Given the description of an element on the screen output the (x, y) to click on. 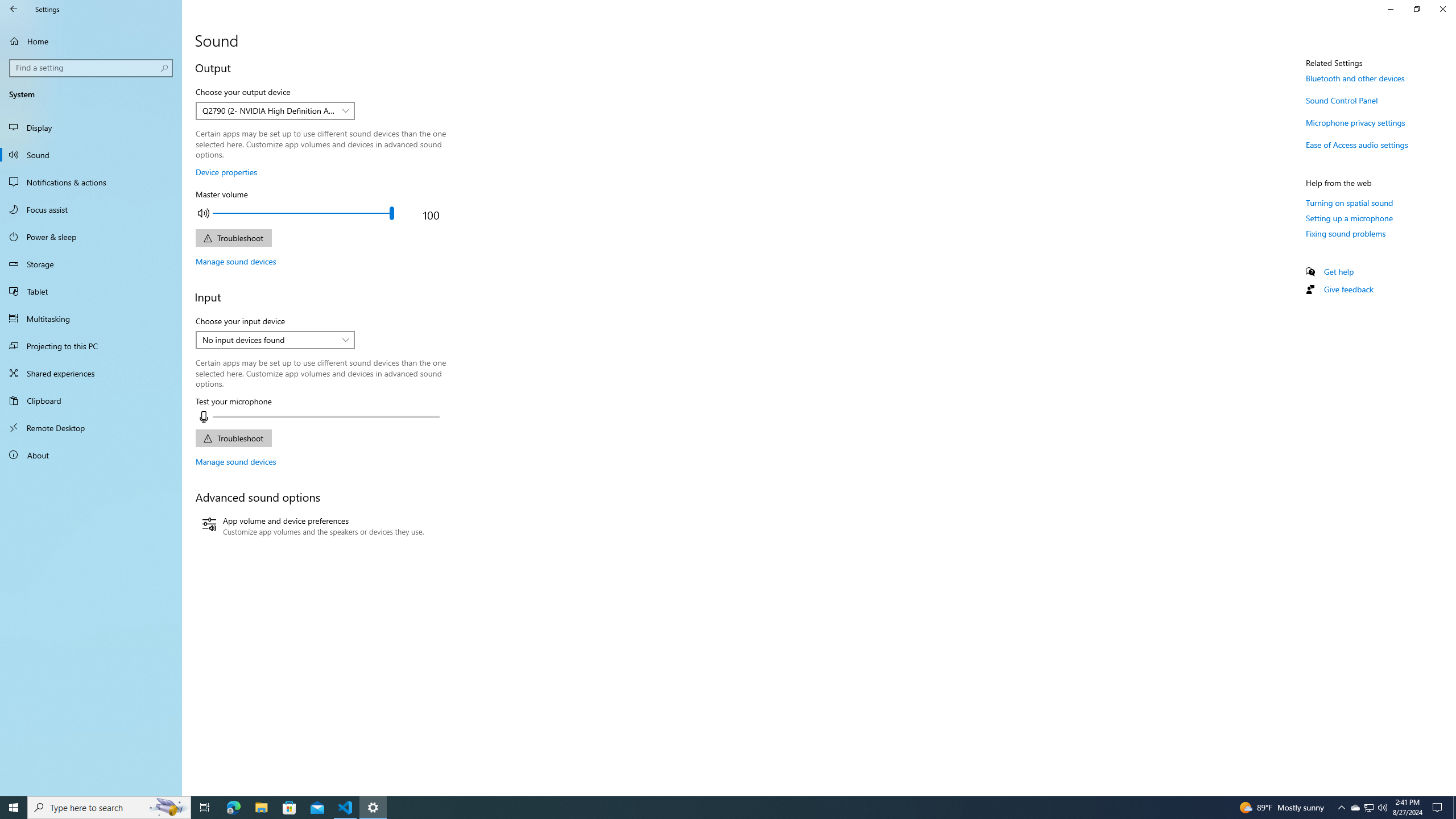
Choose your output device (275, 110)
Q2790 (2- NVIDIA High Definition Audio) (269, 110)
Focus assist (91, 208)
Sound Control Panel (1341, 100)
Manage sound devices (235, 461)
About (91, 454)
